Given the description of an element on the screen output the (x, y) to click on. 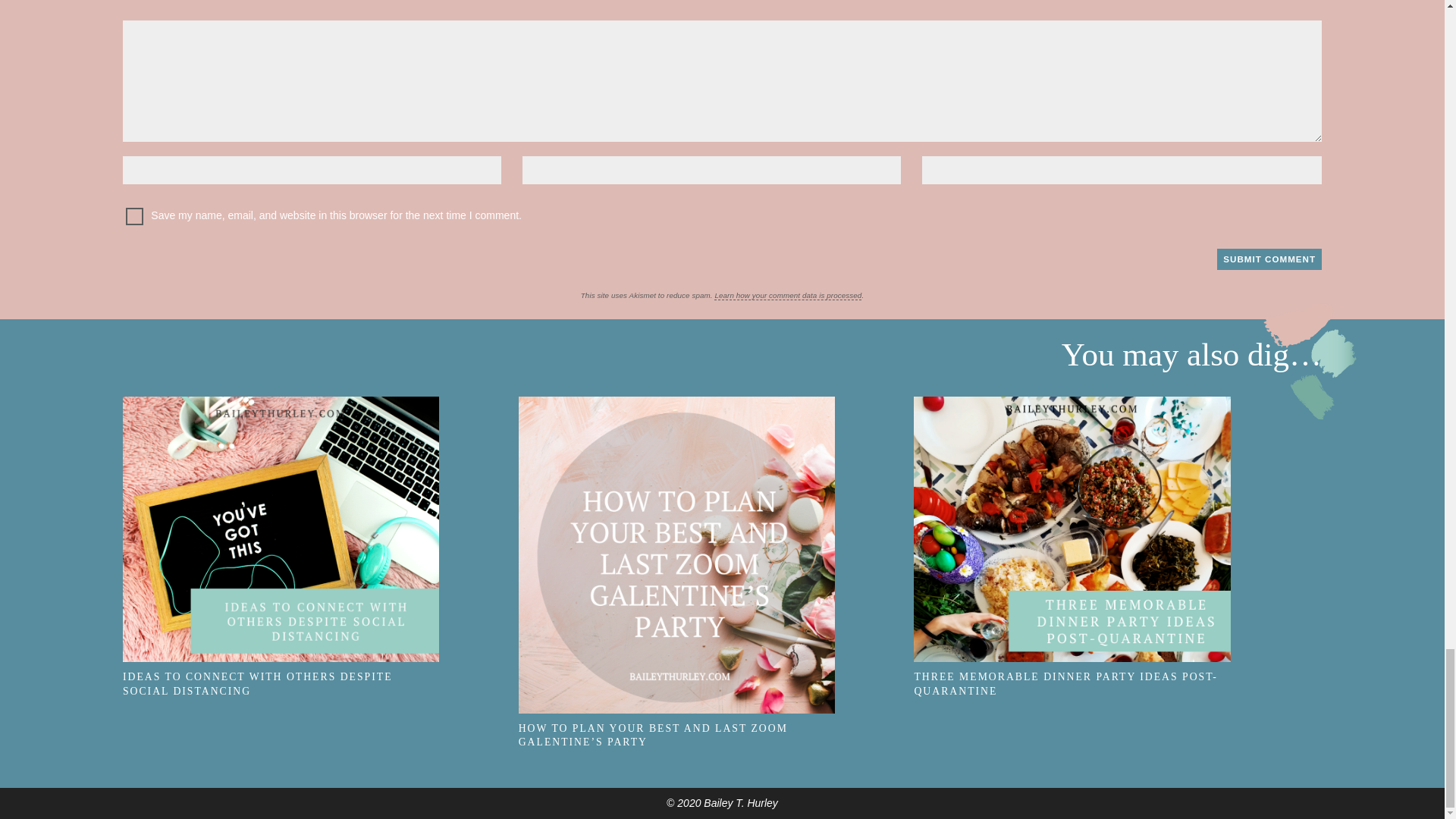
Learn how your comment data is processed (787, 295)
Submit Comment (1269, 259)
Ideas to Connect with Others Despite Social Distancing (280, 528)
Submit Comment (1269, 259)
Three memorable dinner party ideas post-quarantine (1072, 528)
yes (133, 216)
THREE MEMORABLE DINNER PARTY IDEAS POST-QUARANTINE (1111, 671)
IDEAS TO CONNECT WITH OTHERS DESPITE SOCIAL DISTANCING (320, 671)
